Given the description of an element on the screen output the (x, y) to click on. 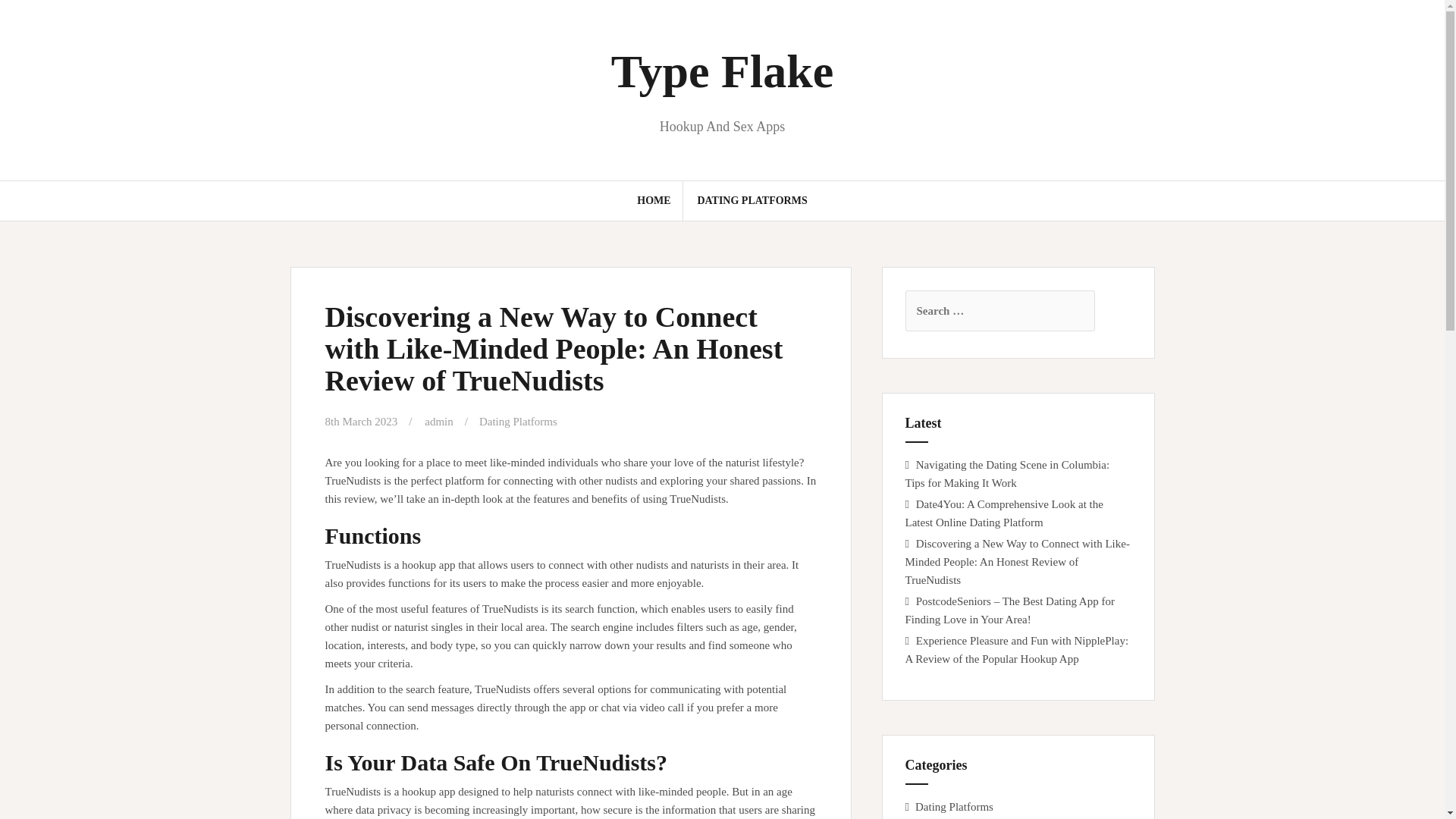
admin (438, 421)
Search (28, 20)
8th March 2023 (360, 421)
HOME (653, 200)
Type Flake (721, 71)
Dating Platforms (518, 421)
Dating Platforms (953, 806)
DATING PLATFORMS (751, 200)
